Given the description of an element on the screen output the (x, y) to click on. 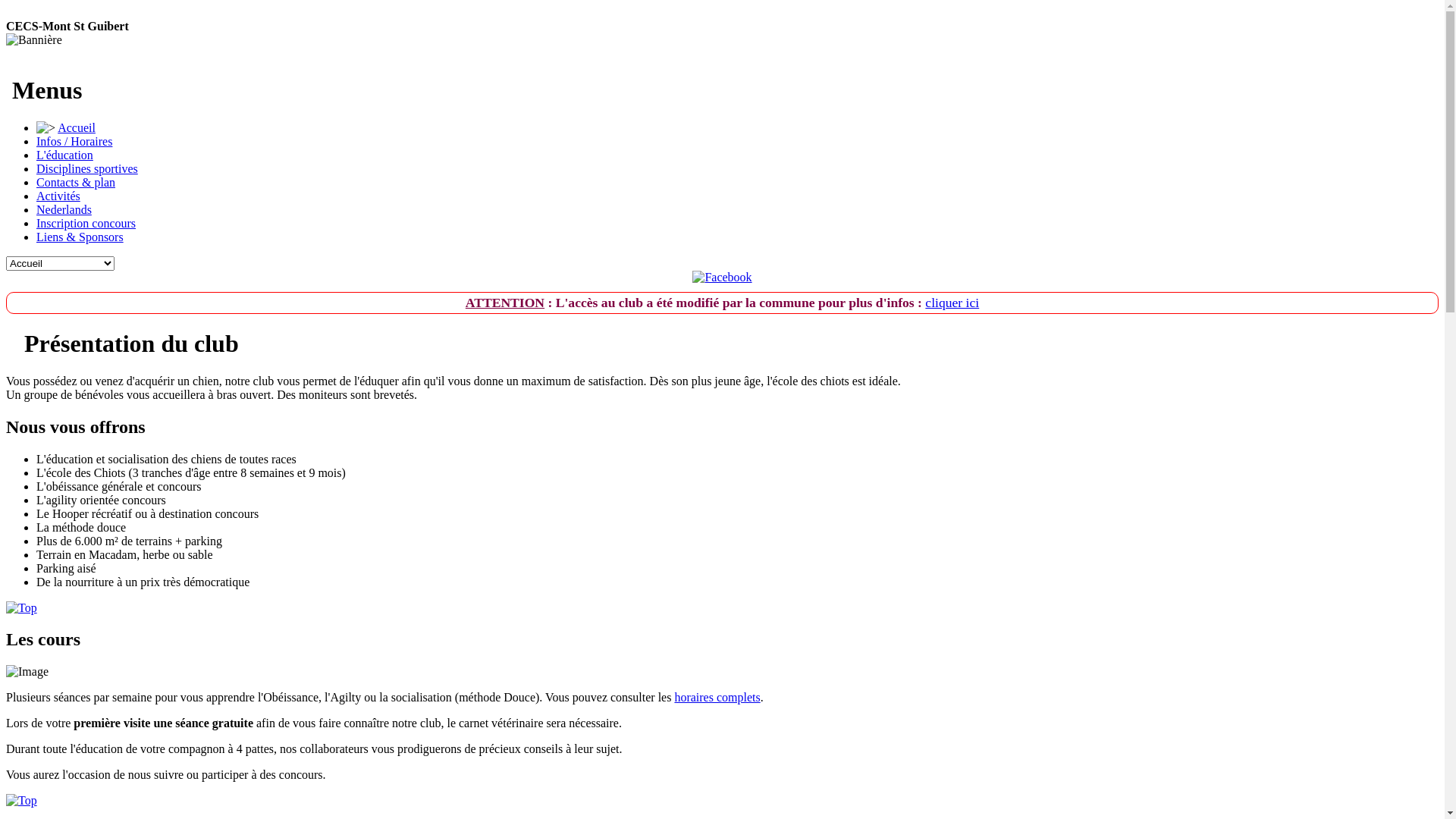
Disciplines sportives Element type: text (87, 168)
Nederlands Element type: text (63, 209)
horaires complets Element type: text (716, 696)
Inscription concours Element type: text (85, 222)
Haut de page Element type: hover (21, 608)
Haut de page Element type: hover (21, 800)
Nous rejoindre sur Facebook Element type: hover (721, 277)
Contacts & plan Element type: text (75, 181)
Liens & Sponsors Element type: text (79, 236)
Infos / Horaires Element type: text (74, 140)
cliquer ici Element type: text (952, 302)
Accueil Element type: text (76, 127)
